Given the description of an element on the screen output the (x, y) to click on. 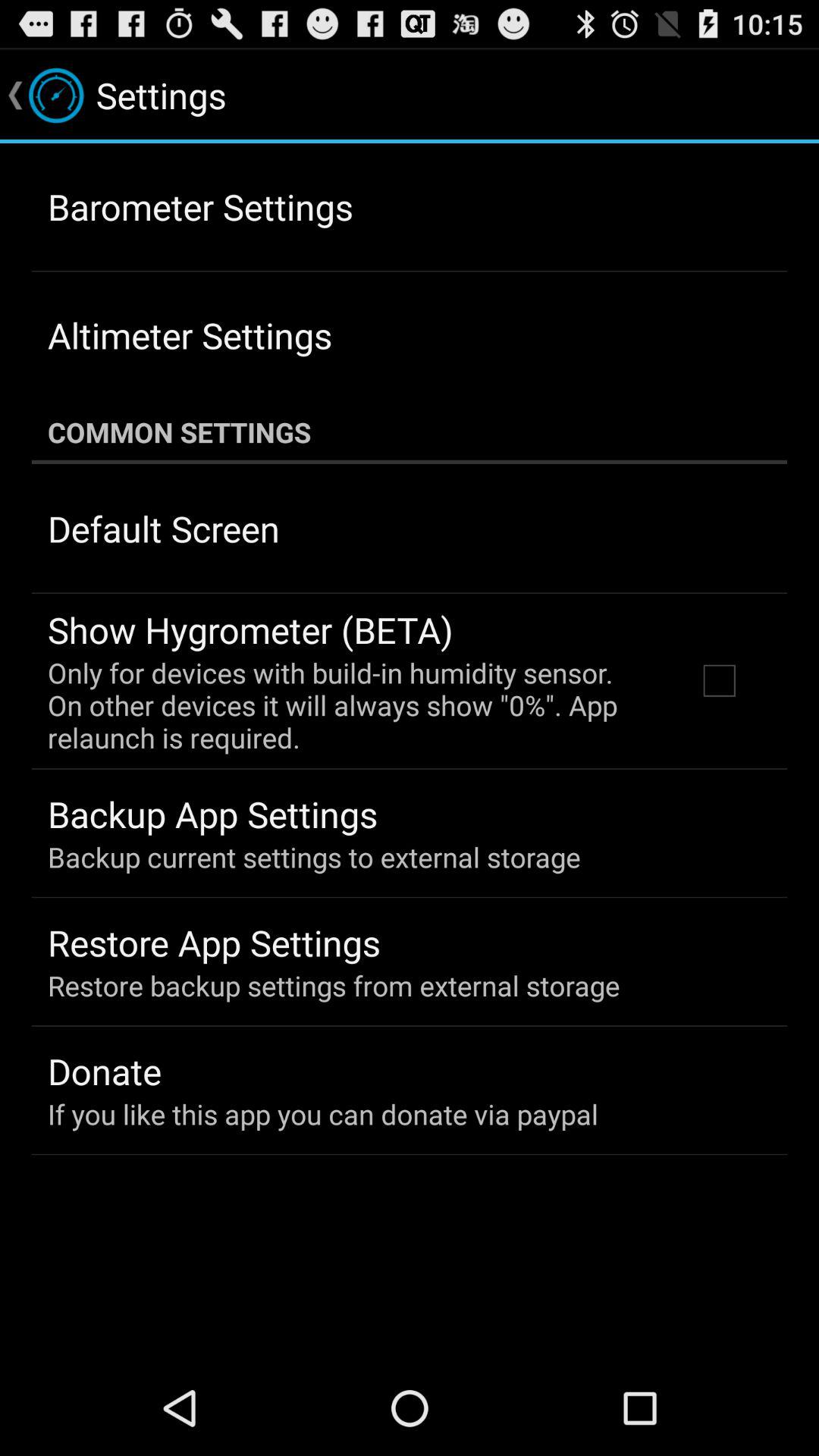
select checkbox on the right (719, 680)
